Given the description of an element on the screen output the (x, y) to click on. 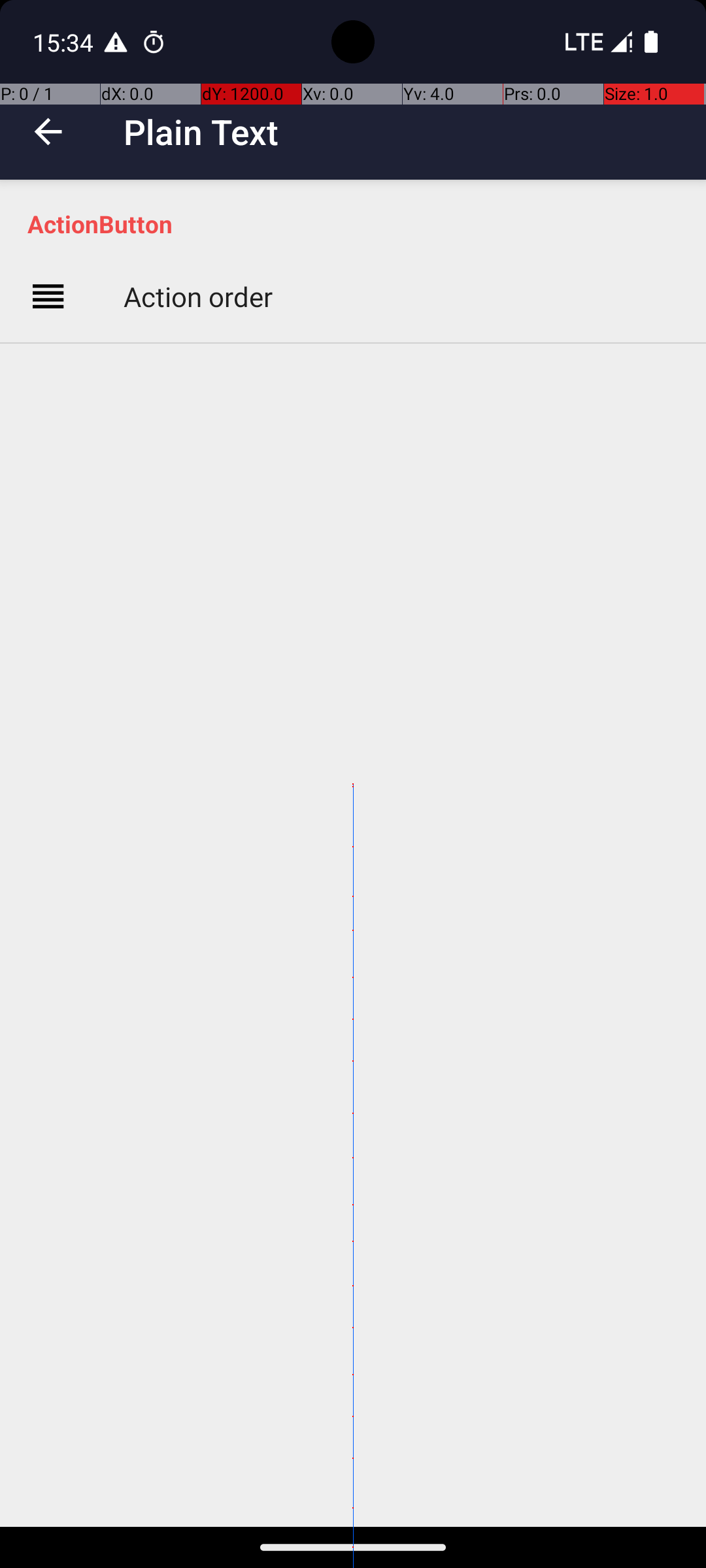
Plain Text Element type: android.widget.TextView (200, 131)
ActionButton Element type: android.widget.TextView (359, 223)
Action order Element type: android.widget.TextView (197, 295)
